Given the description of an element on the screen output the (x, y) to click on. 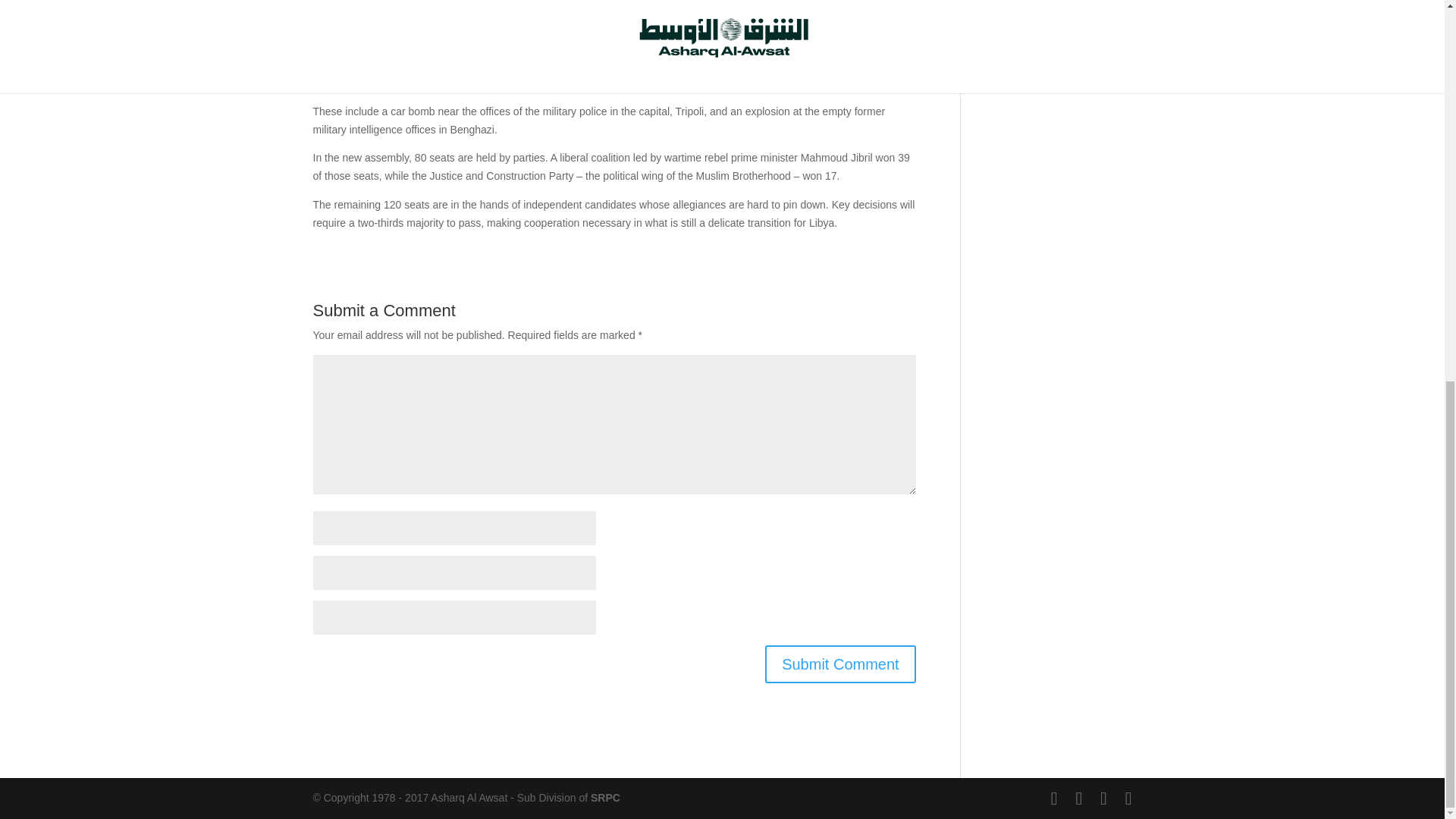
Submit Comment (840, 664)
Submit Comment (840, 664)
SRPC (605, 797)
